Given the description of an element on the screen output the (x, y) to click on. 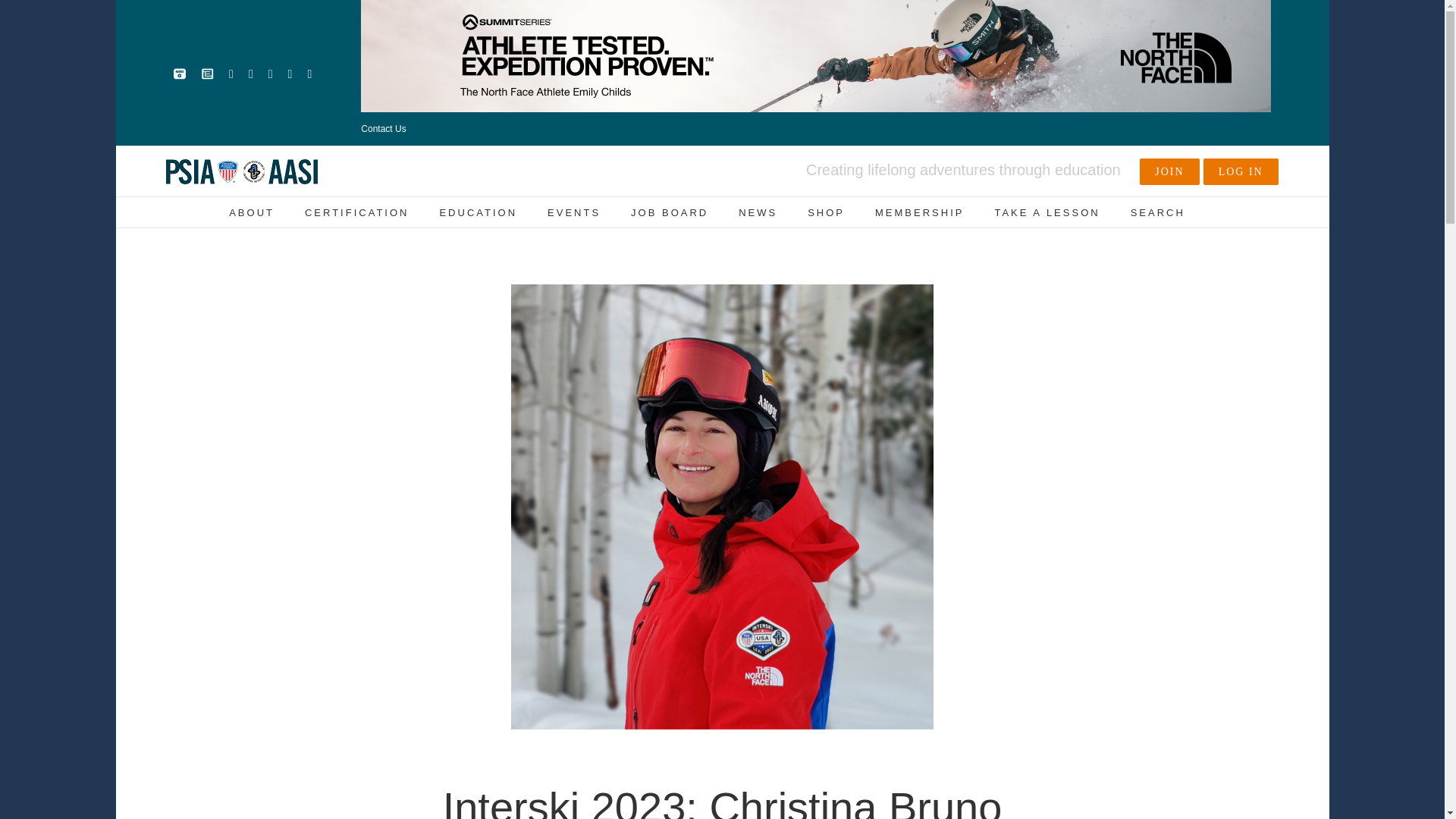
LOG IN (1241, 171)
Elearning (207, 73)
ABOUT (251, 212)
Contact Us (383, 128)
JOIN (1169, 171)
Matrix (179, 73)
CERTIFICATION (356, 212)
